Given the description of an element on the screen output the (x, y) to click on. 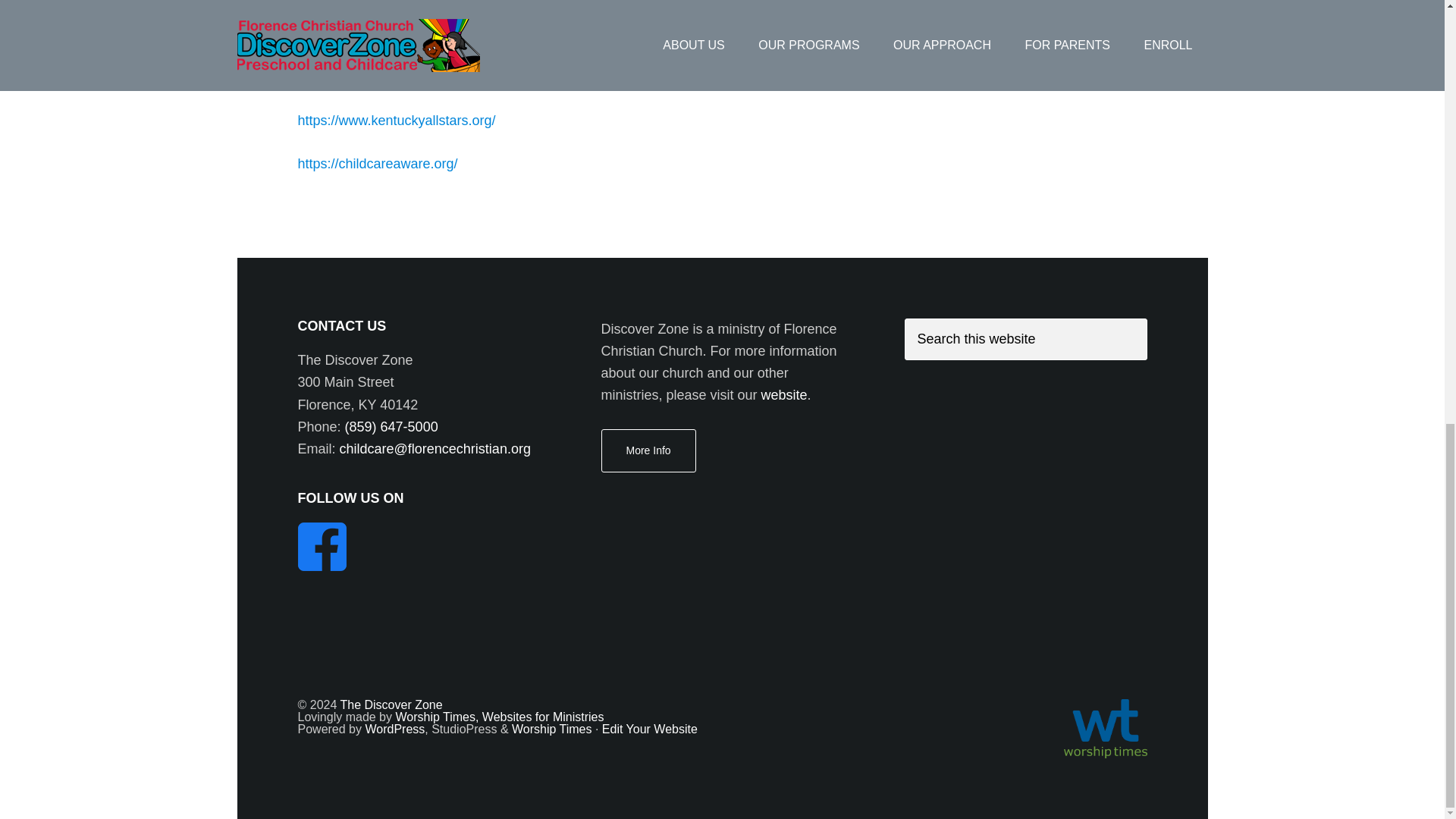
Worship Times, Websites for Ministries (499, 716)
The Discover Zone (390, 704)
More Info (647, 450)
WordPress (395, 728)
website (784, 394)
The Discover Zone (390, 704)
